Given the description of an element on the screen output the (x, y) to click on. 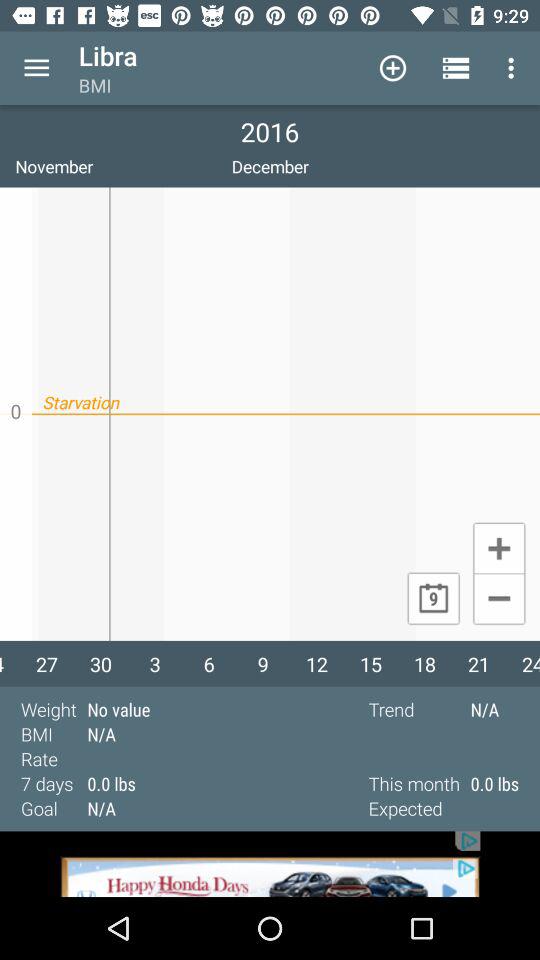
increment button (498, 547)
